Given the description of an element on the screen output the (x, y) to click on. 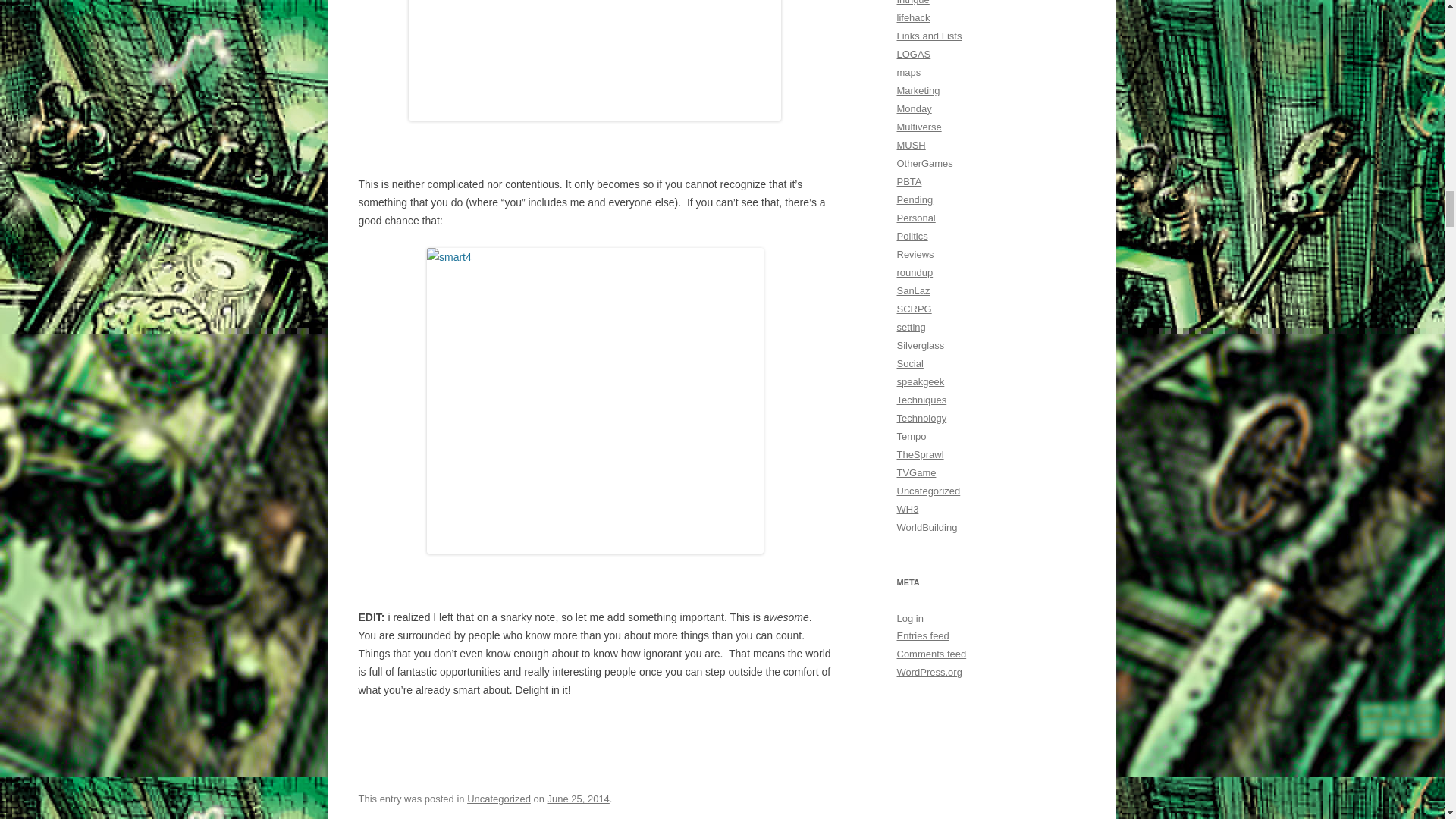
Uncategorized (499, 798)
June 25, 2014 (578, 798)
10:37 am (578, 798)
